Given the description of an element on the screen output the (x, y) to click on. 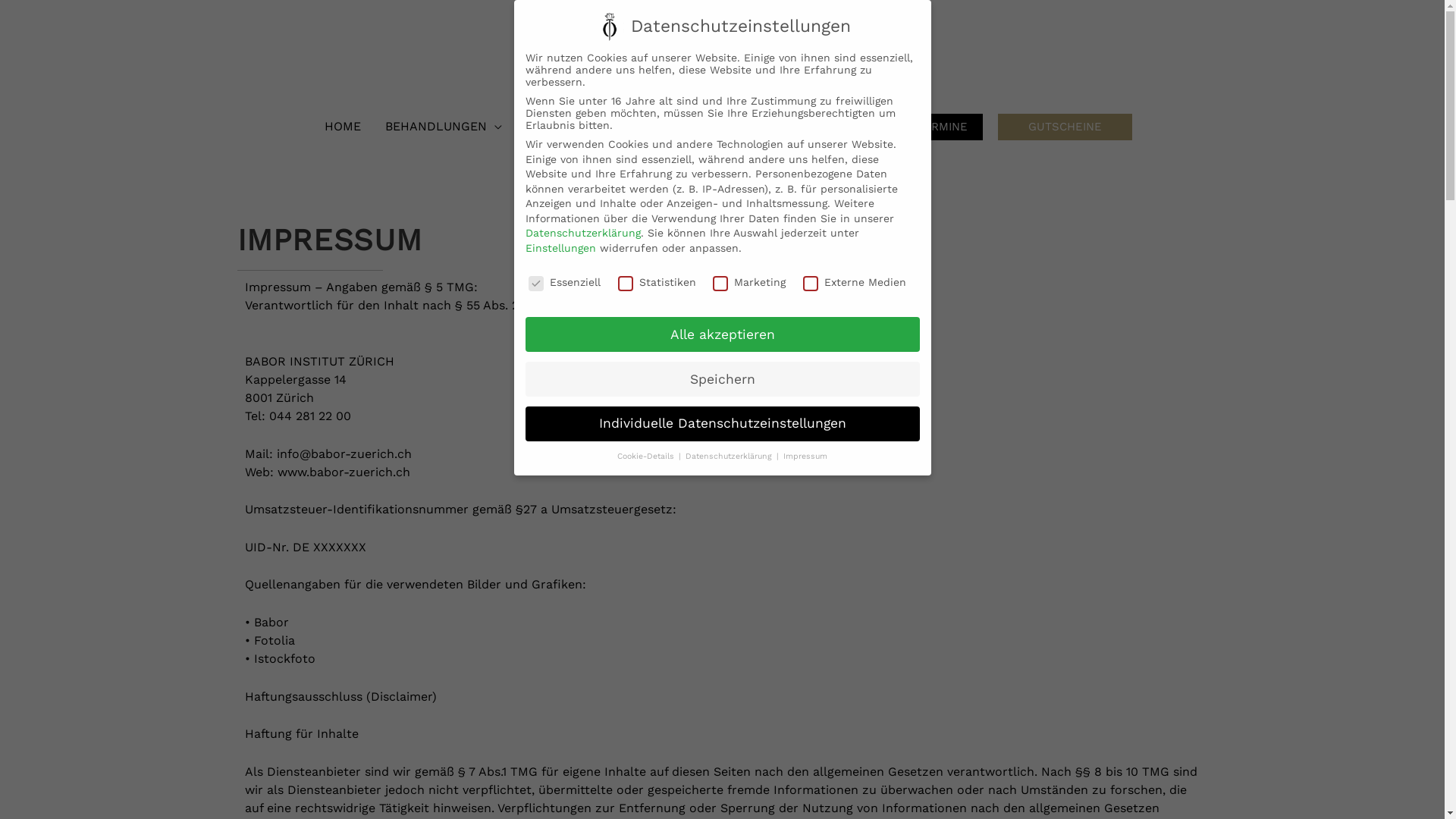
TERMINE Element type: text (941, 126)
BLOG Element type: text (633, 126)
Impressum Element type: text (805, 456)
ANGEBOTE Element type: text (559, 126)
Speichern Element type: text (721, 378)
Einstellungen Element type: text (559, 247)
Alle akzeptieren Element type: text (721, 333)
BEHANDLUNGEN Element type: text (443, 126)
Individuelle Datenschutzeinstellungen Element type: text (721, 423)
KONTAKT Element type: text (787, 126)
HOME Element type: text (342, 126)
GUTSCHEINE Element type: text (1064, 126)
Cookie-Details Element type: text (647, 456)
SHOP Element type: text (857, 126)
